Given the description of an element on the screen output the (x, y) to click on. 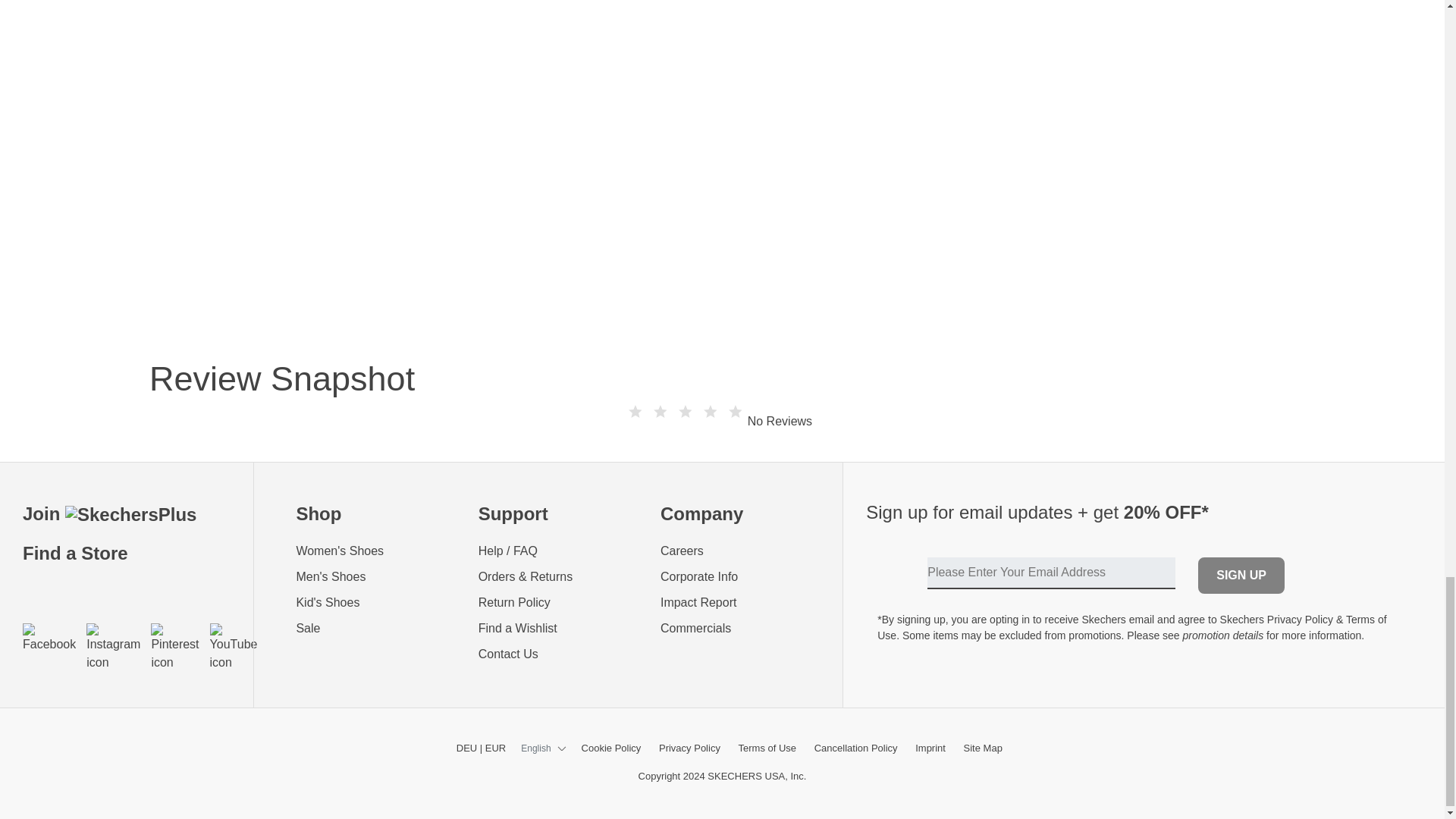
Follow SKECHERS on Pinterest (174, 647)
Follow SKECHERS on Instagram (112, 647)
Follow Skechers on Facebook (49, 638)
Go to Wishlist (558, 628)
Follow SKECHERS on YouTube (233, 647)
